Given the description of an element on the screen output the (x, y) to click on. 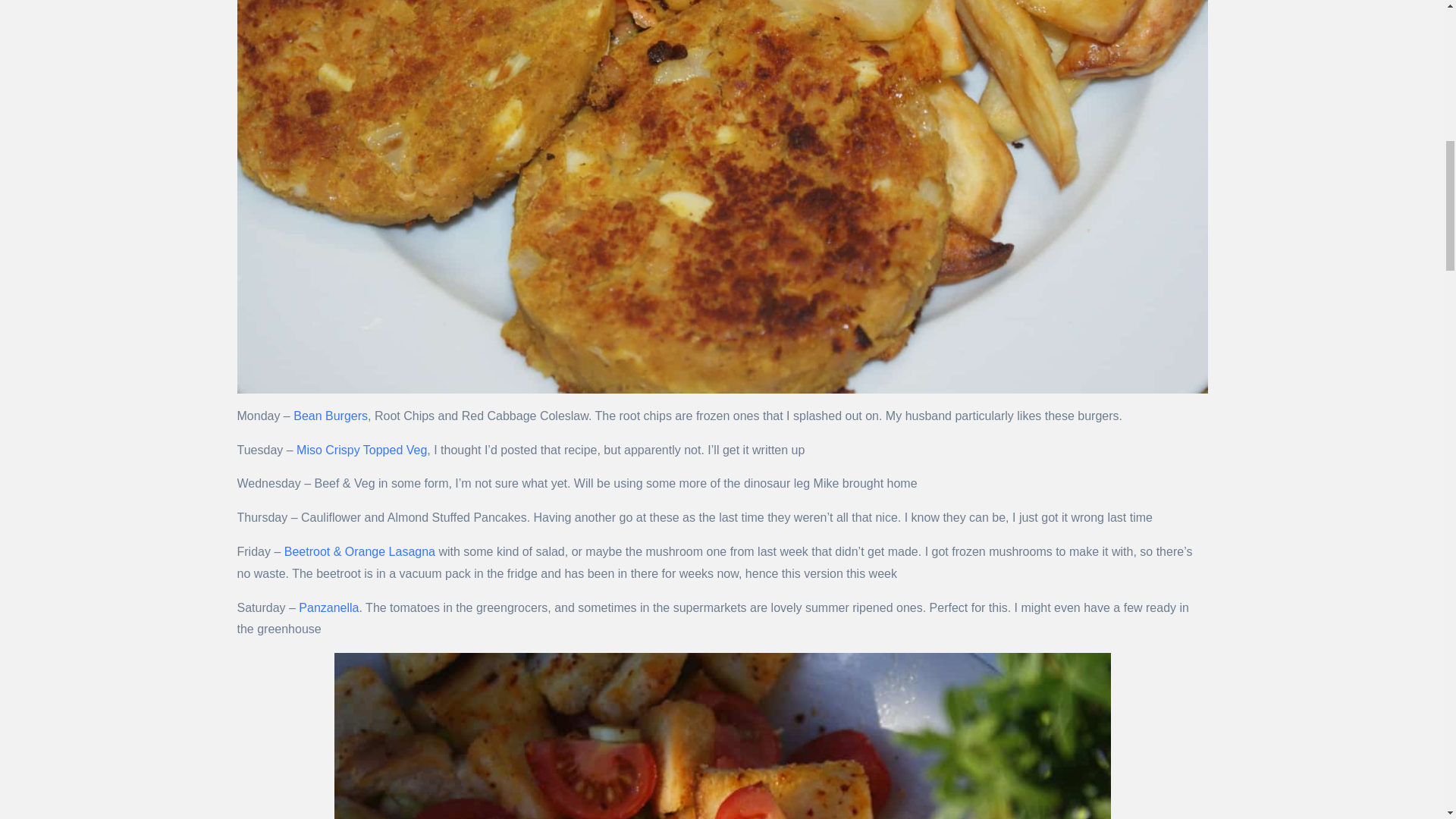
Panzanella (328, 607)
Bean Burgers (331, 415)
Miso Crispy Topped Veg (361, 449)
